Given the description of an element on the screen output the (x, y) to click on. 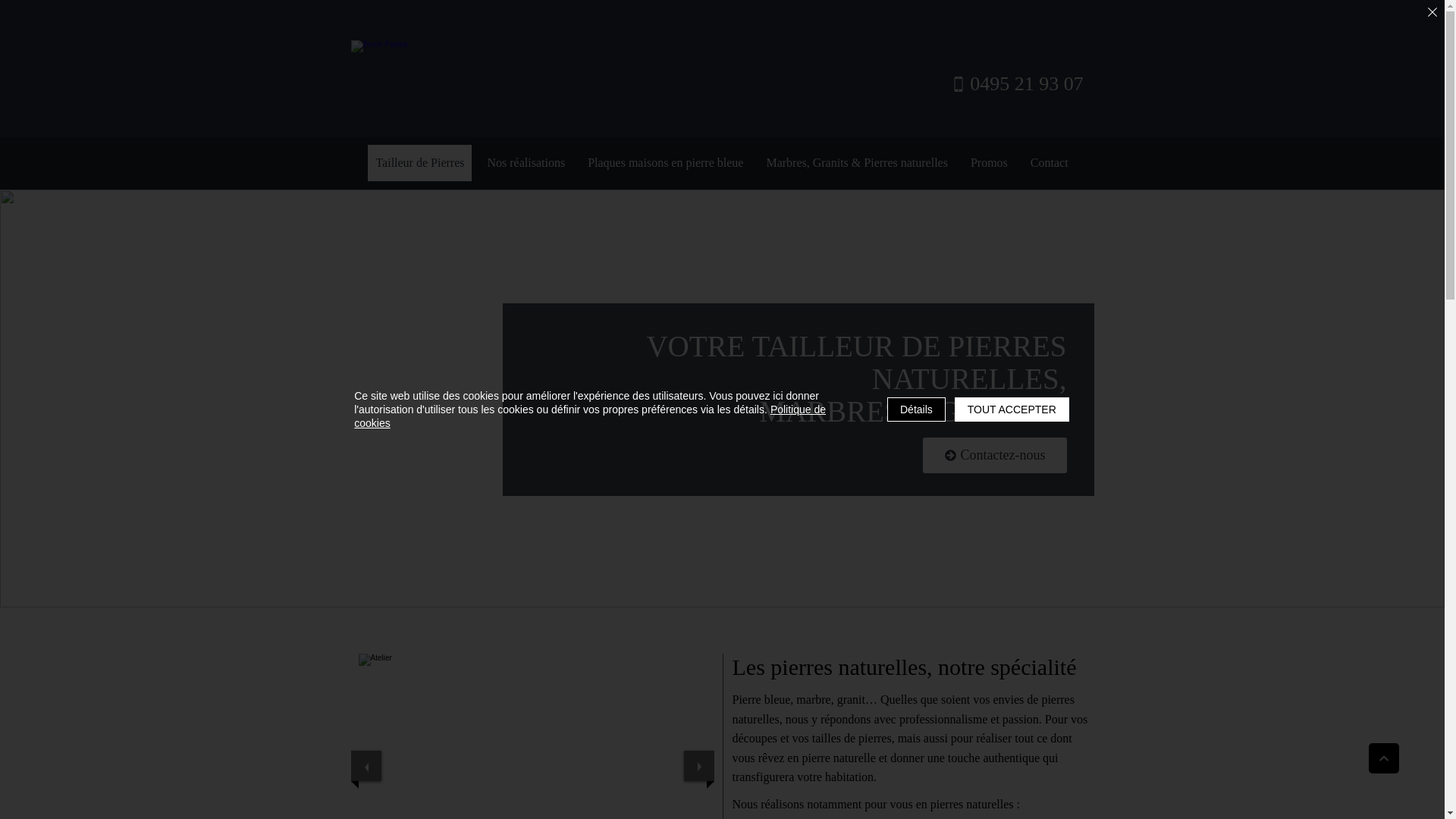
Contact Element type: text (1049, 162)
Bruch Patrick Element type: hover (540, 84)
TOUT ACCEPTER Element type: text (1011, 409)
Tailleur de Pierres Element type: text (419, 162)
Contactez-nous Element type: text (994, 455)
Marbres, Granits & Pierres naturelles Element type: text (856, 162)
Plaques maisons en pierre bleue Element type: text (665, 162)
Promos Element type: text (989, 162)
0495 21 93 07 Element type: text (1016, 84)
Politique de cookies Element type: text (589, 416)
